Given the description of an element on the screen output the (x, y) to click on. 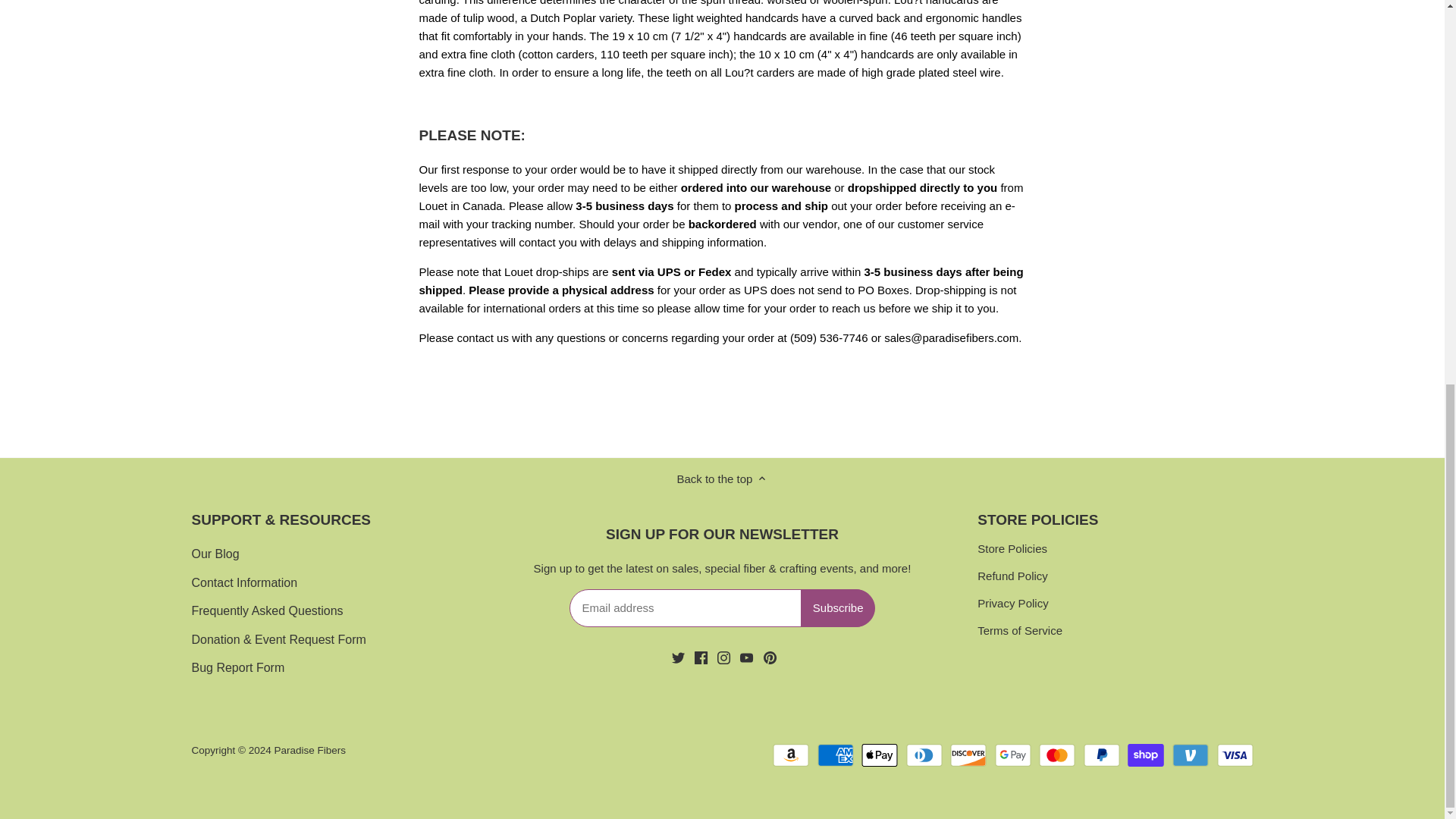
Store Policies (1011, 549)
Subscribe (838, 607)
Terms of Service (1019, 631)
Privacy Policy (1012, 603)
Refund Policy (1012, 576)
